Given the description of an element on the screen output the (x, y) to click on. 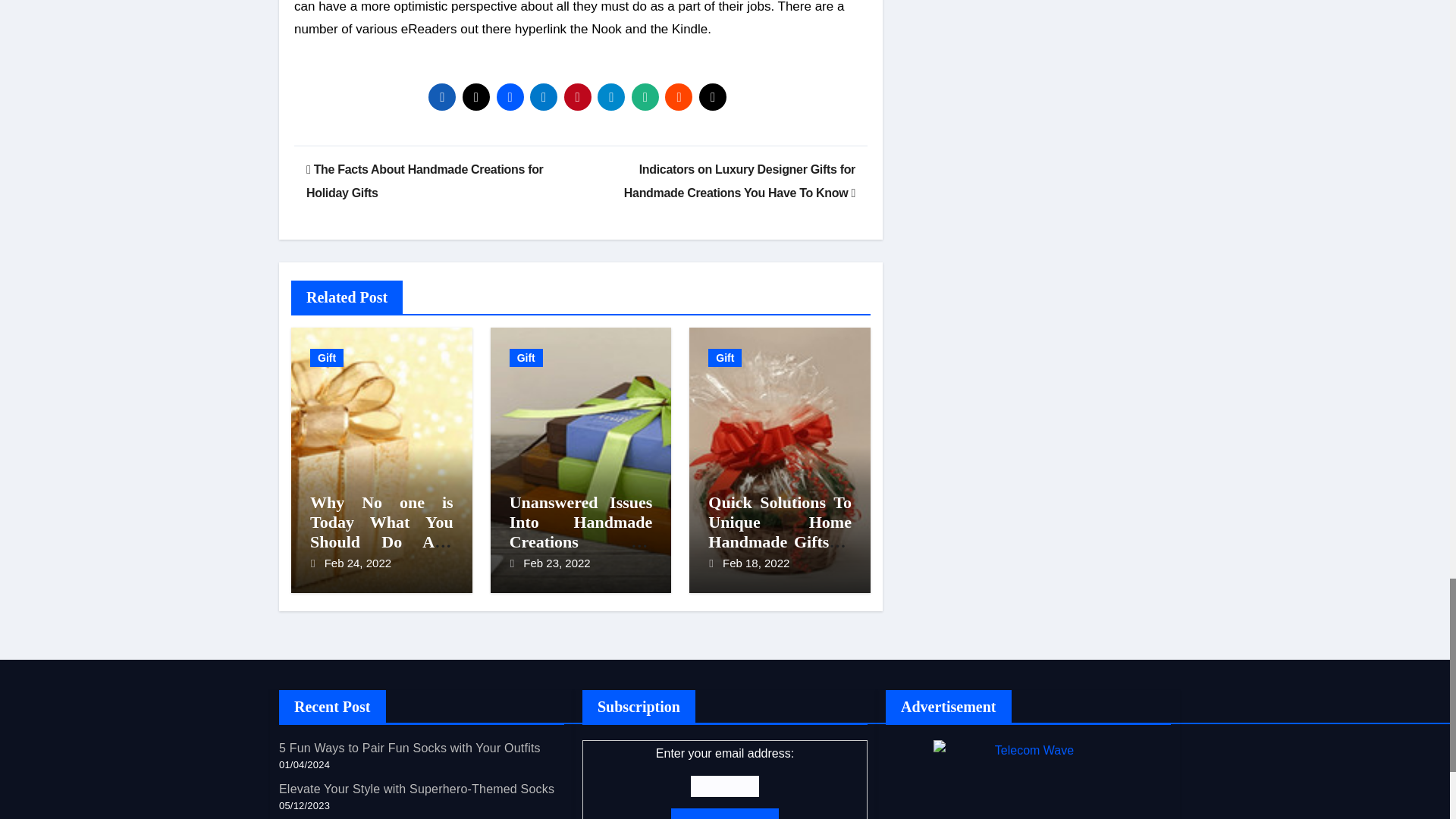
Subscribe (724, 814)
